Given the description of an element on the screen output the (x, y) to click on. 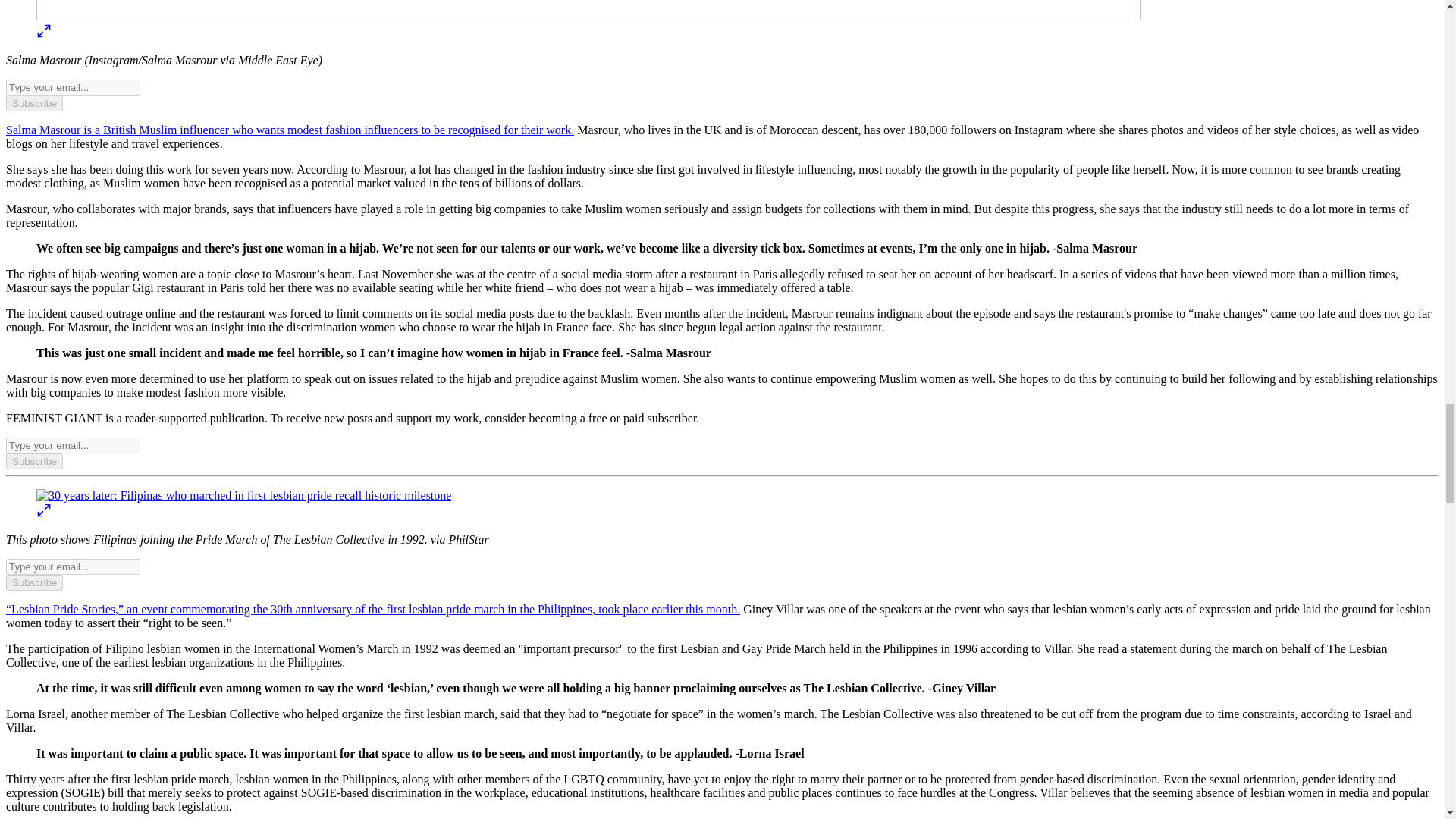
Subscribe (33, 103)
Subscribe (33, 582)
Subscribe (33, 461)
